Given the description of an element on the screen output the (x, y) to click on. 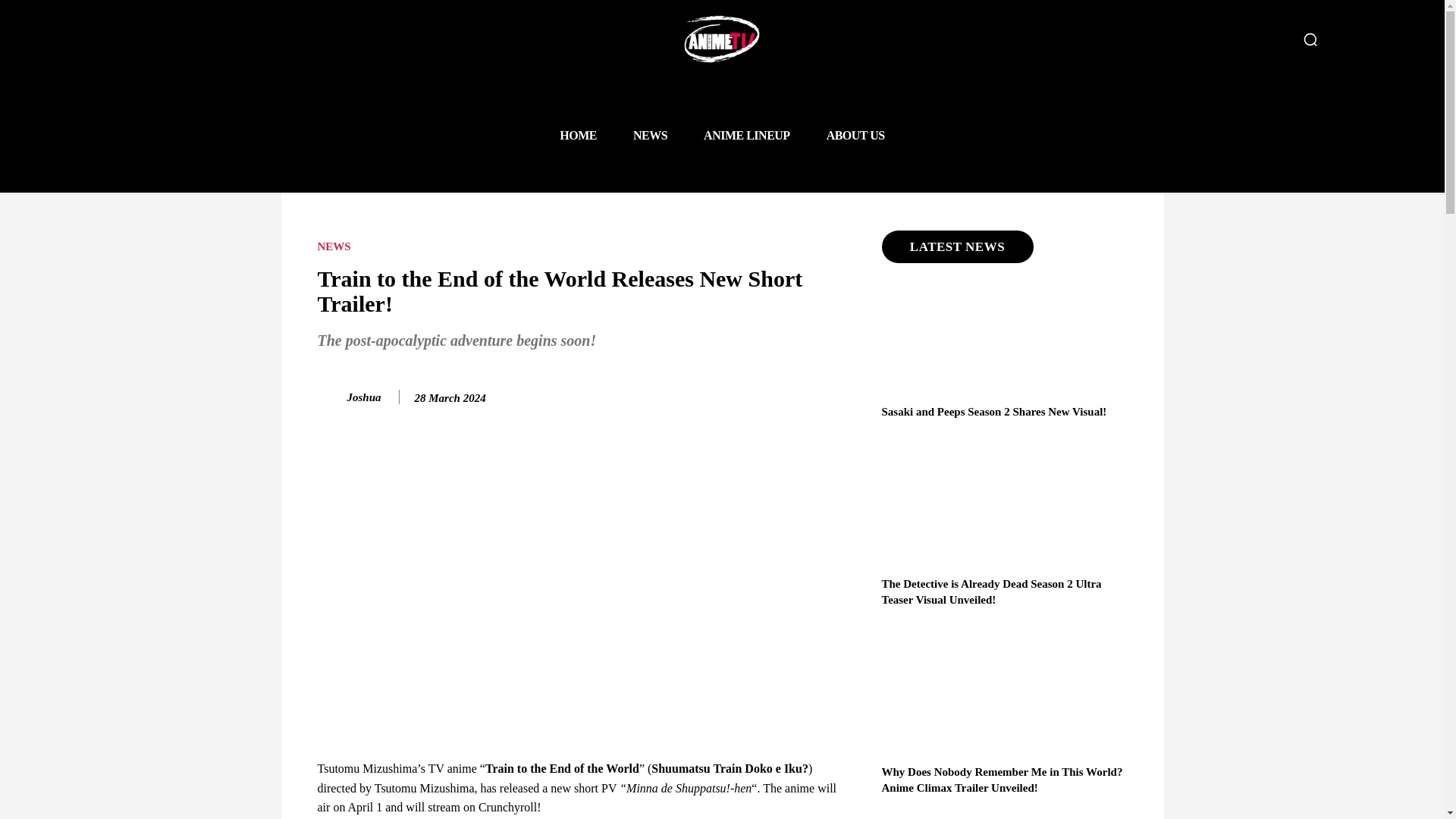
Joshua (330, 396)
ABOUT US (855, 135)
NEWS (649, 135)
Sasaki and Peeps Season 2 Shares New Visual! (993, 411)
ANIME LINEUP (746, 135)
Sasaki and Peeps Season 2 Shares New Visual! (993, 411)
HOME (577, 135)
Joshua (364, 397)
